Given the description of an element on the screen output the (x, y) to click on. 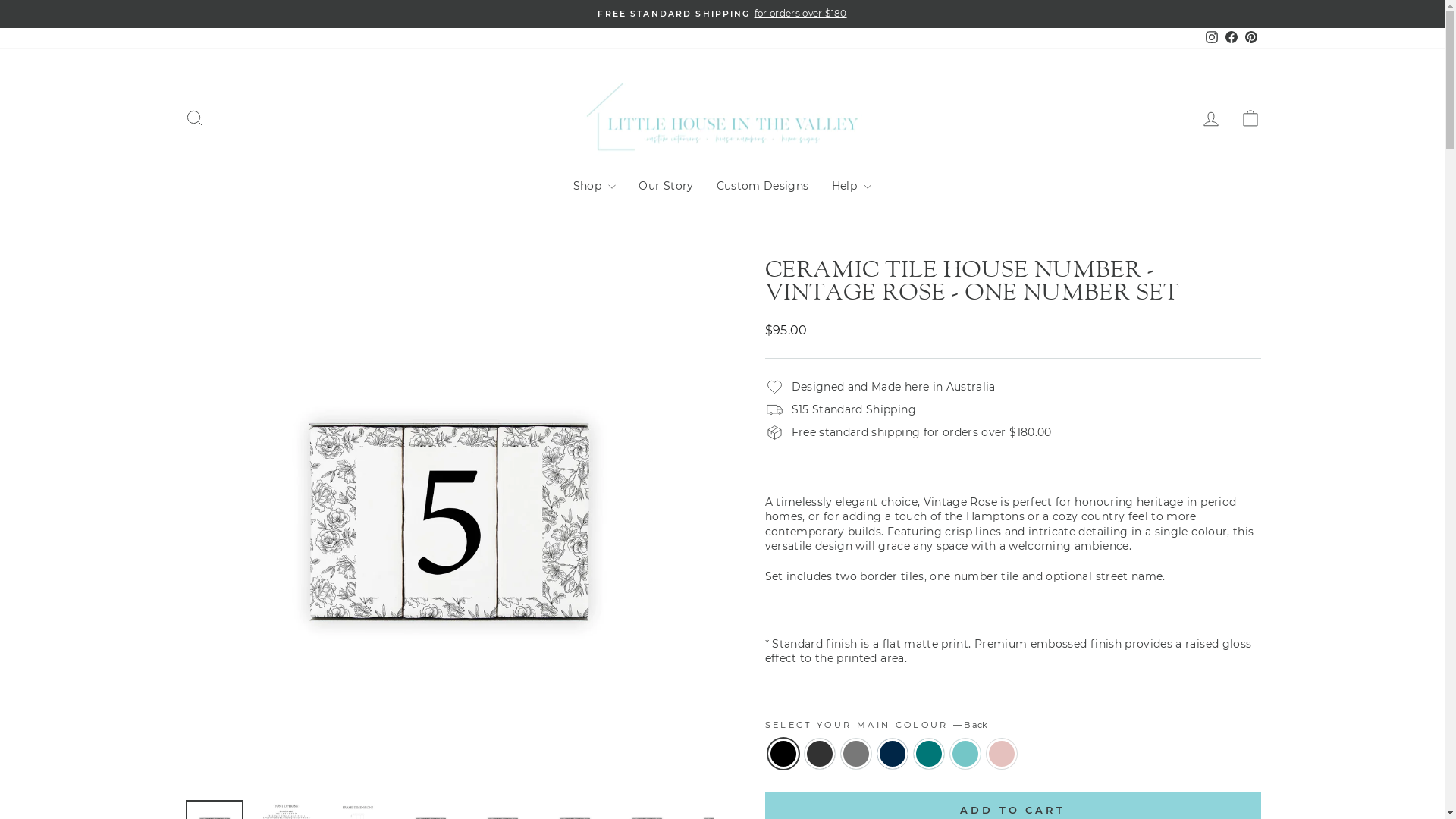
icon-bag-minimal
Cart Element type: text (1249, 118)
account
Log in Element type: text (1210, 118)
Facebook Element type: text (1230, 38)
Custom Designs Element type: text (762, 186)
icon-search
Search Element type: text (193, 118)
Pinterest Element type: text (1250, 38)
FREE STANDARD SHIPPINGfor orders over $180 Element type: text (722, 13)
instagram
Instagram Element type: text (1210, 38)
Our Story Element type: text (665, 186)
